Given the description of an element on the screen output the (x, y) to click on. 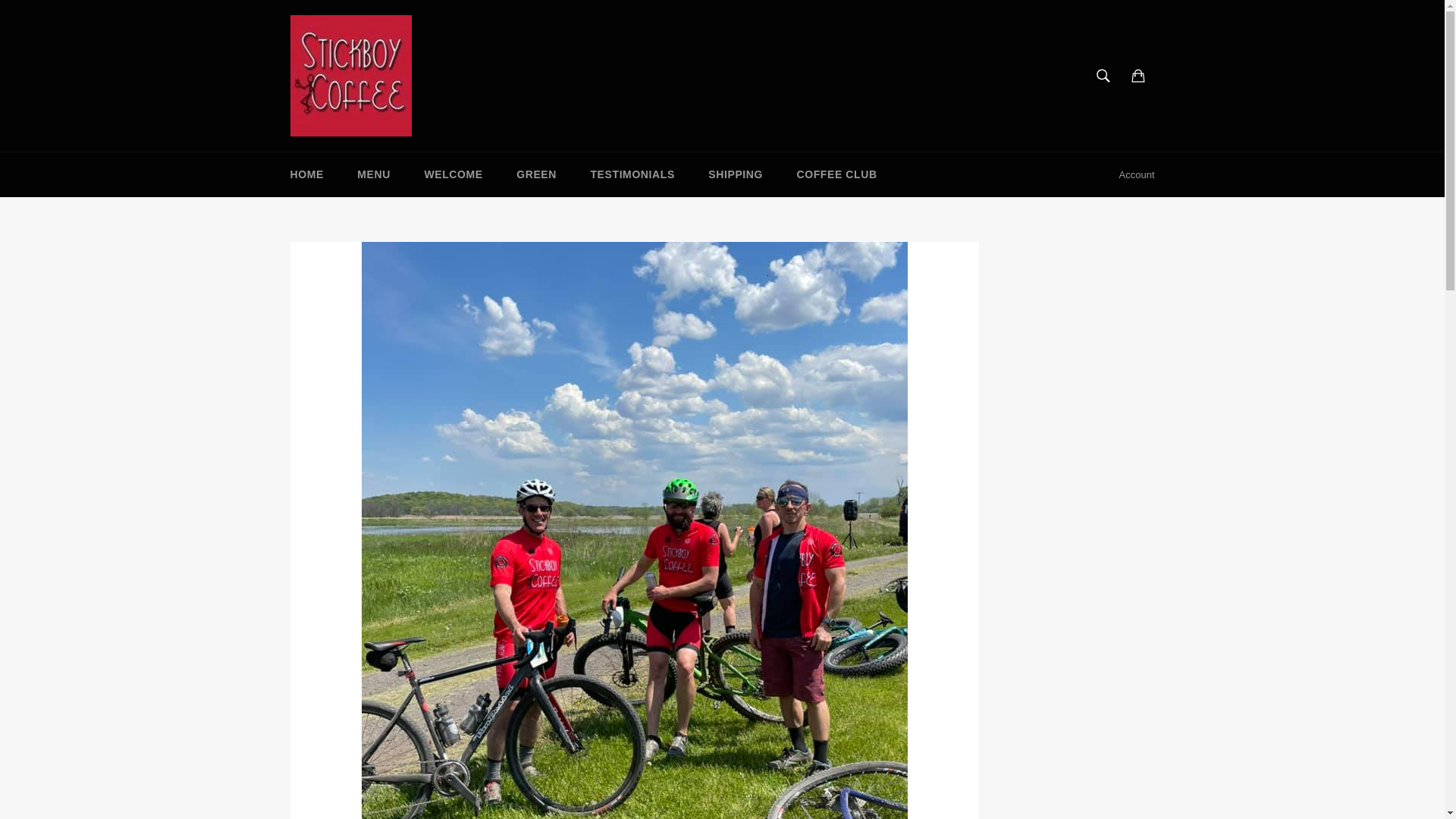
TESTIMONIALS (631, 174)
Search (1103, 75)
GREEN (536, 174)
SHIPPING (735, 174)
Account (1136, 175)
Cart (1138, 75)
MENU (374, 174)
HOME (306, 174)
WELCOME (453, 174)
COFFEE CLUB (835, 174)
